Given the description of an element on the screen output the (x, y) to click on. 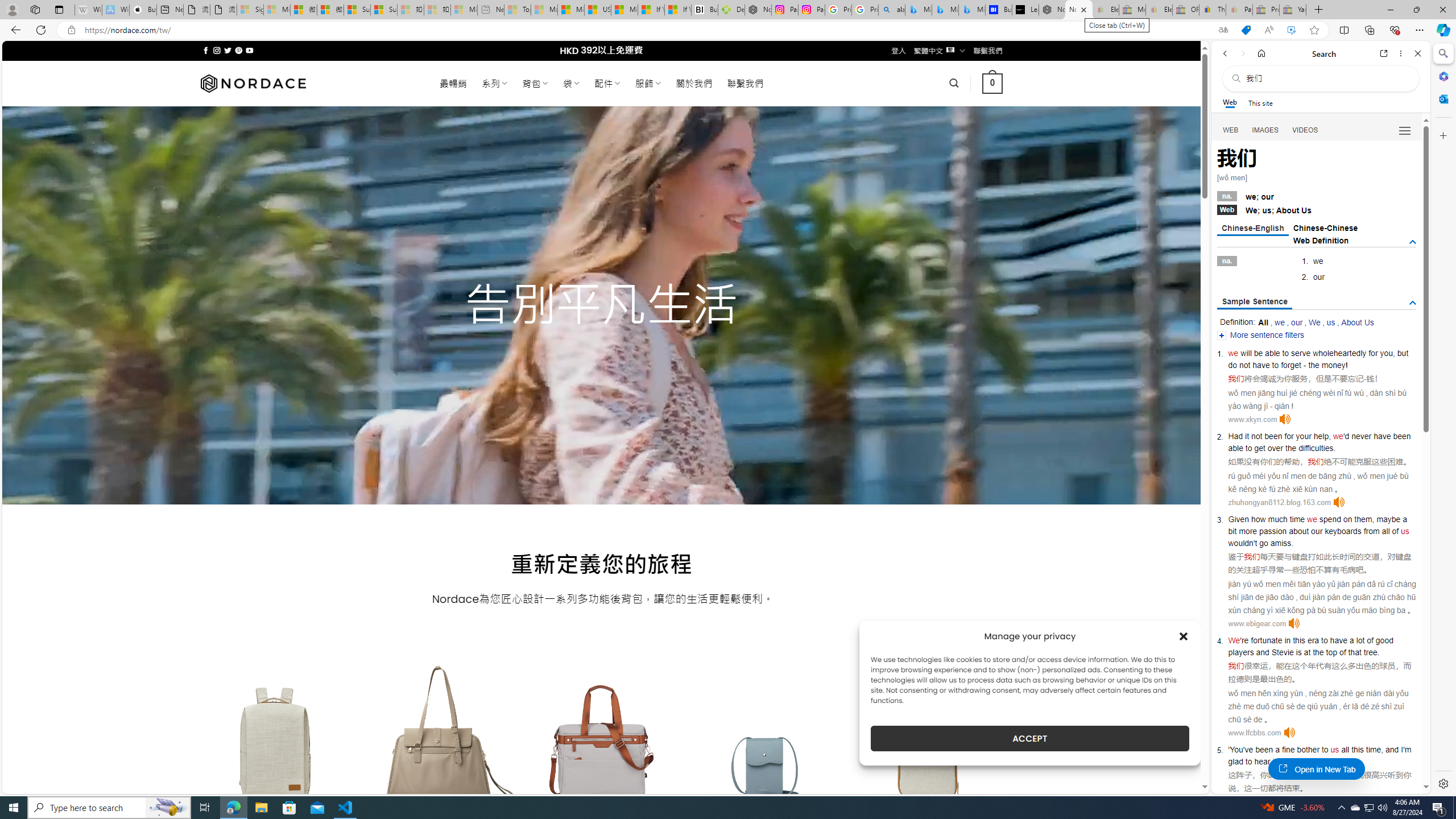
AutomationID: tgdef (1412, 241)
- (1364, 378)
help (1321, 435)
stop (1322, 760)
